Given the description of an element on the screen output the (x, y) to click on. 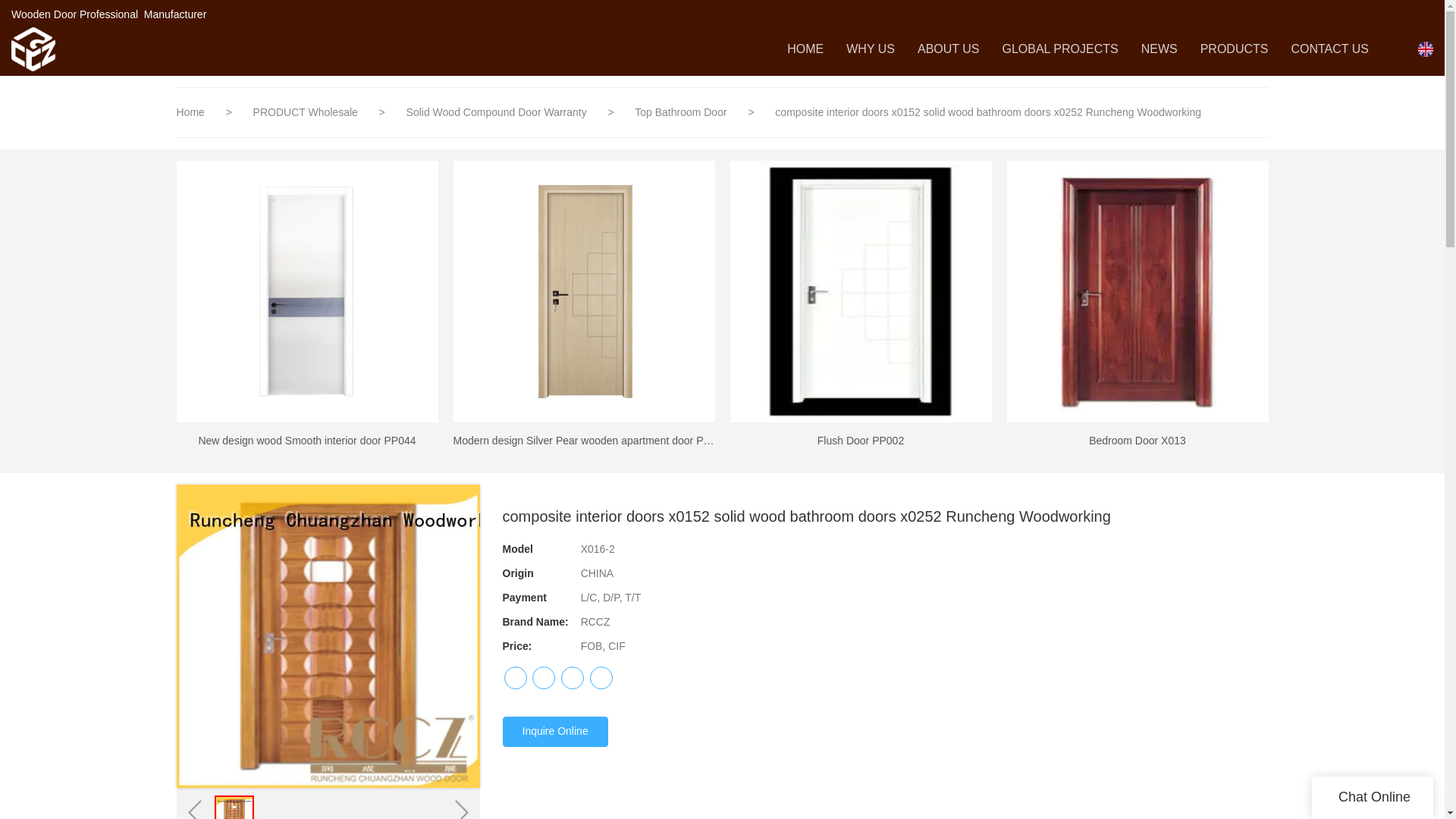
Top Bathroom Door (681, 111)
PRODUCTS (1233, 49)
Solid Wood Compound Door Warranty (497, 111)
GLOBAL PROJECTS (1059, 49)
ABOUT US (948, 49)
WHY US (870, 49)
Home (189, 111)
PRODUCT Wholesale (307, 111)
CONTACT US (1329, 49)
